Given the description of an element on the screen output the (x, y) to click on. 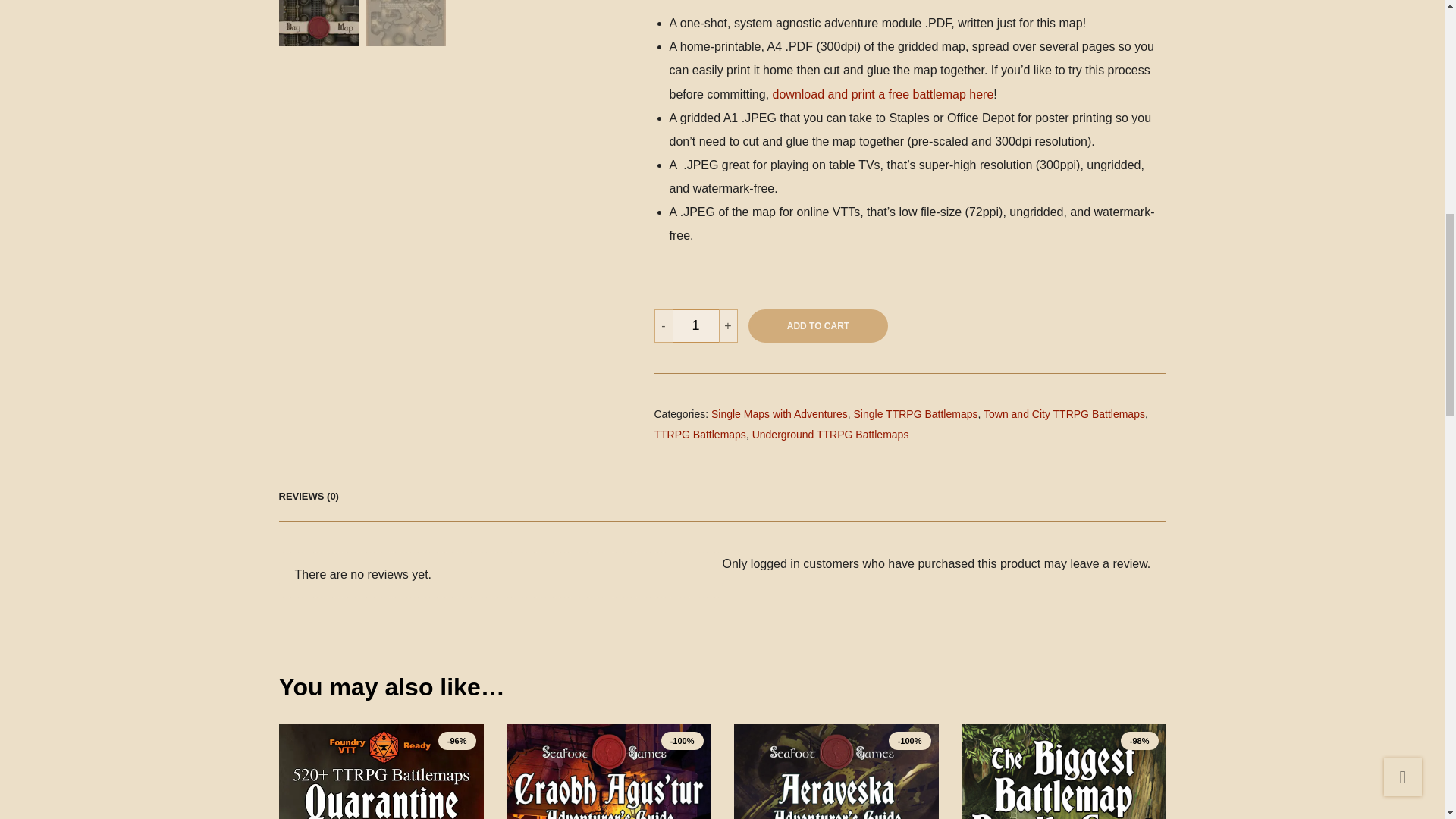
Single Maps with Adventures (779, 413)
Town and City TTRPG Battlemaps (1064, 413)
download and print a free battlemap here (883, 93)
Underground TTRPG Battlemaps (830, 434)
ADD TO CART (818, 326)
1 (695, 326)
Single TTRPG Battlemaps (915, 413)
TTRPG Battlemaps (699, 434)
